Given the description of an element on the screen output the (x, y) to click on. 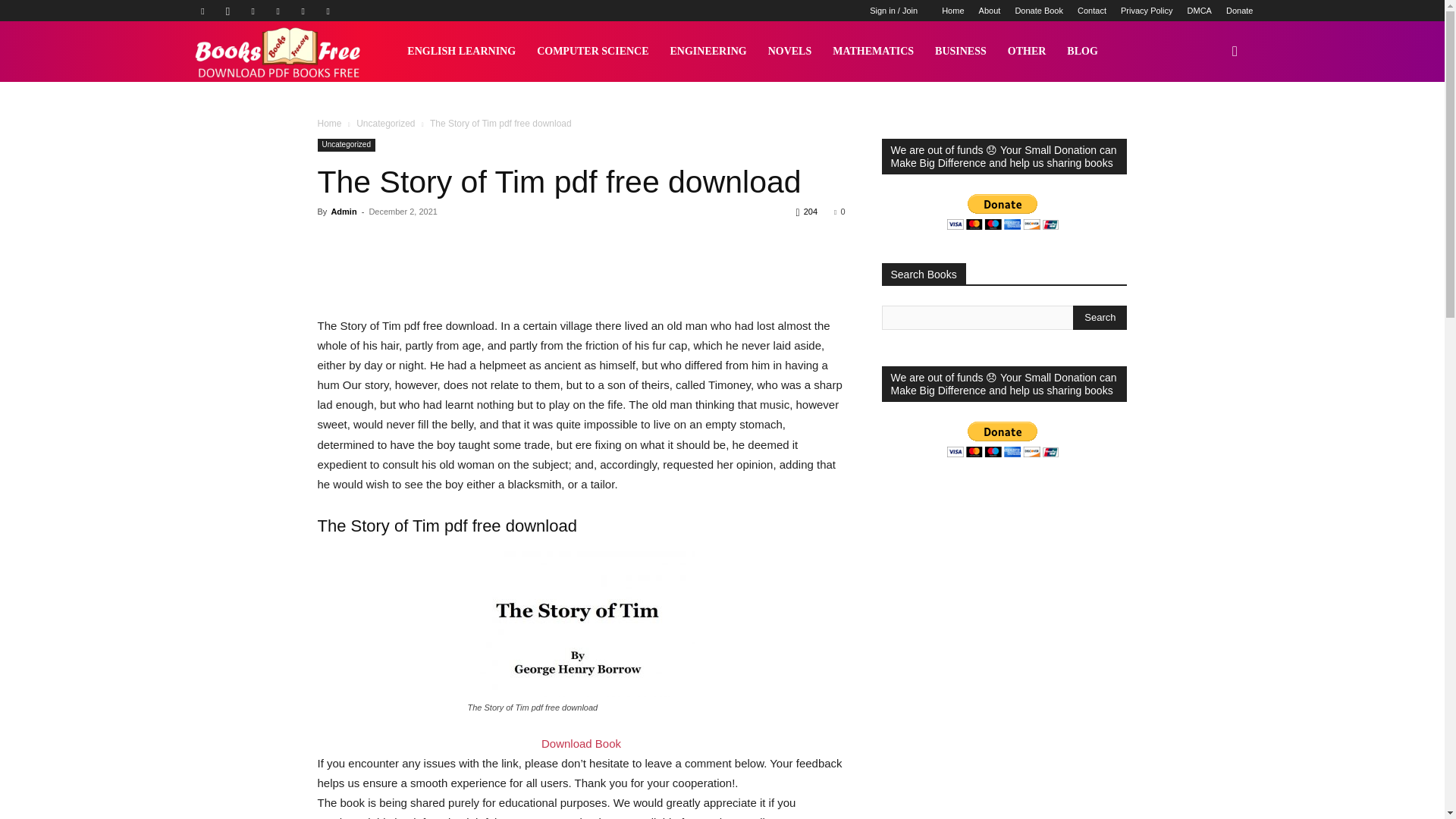
Youtube (328, 10)
Twitter (303, 10)
Facebook (202, 10)
Pinterest (277, 10)
Instagram (228, 10)
Paypal (252, 10)
Search (1099, 317)
